Given the description of an element on the screen output the (x, y) to click on. 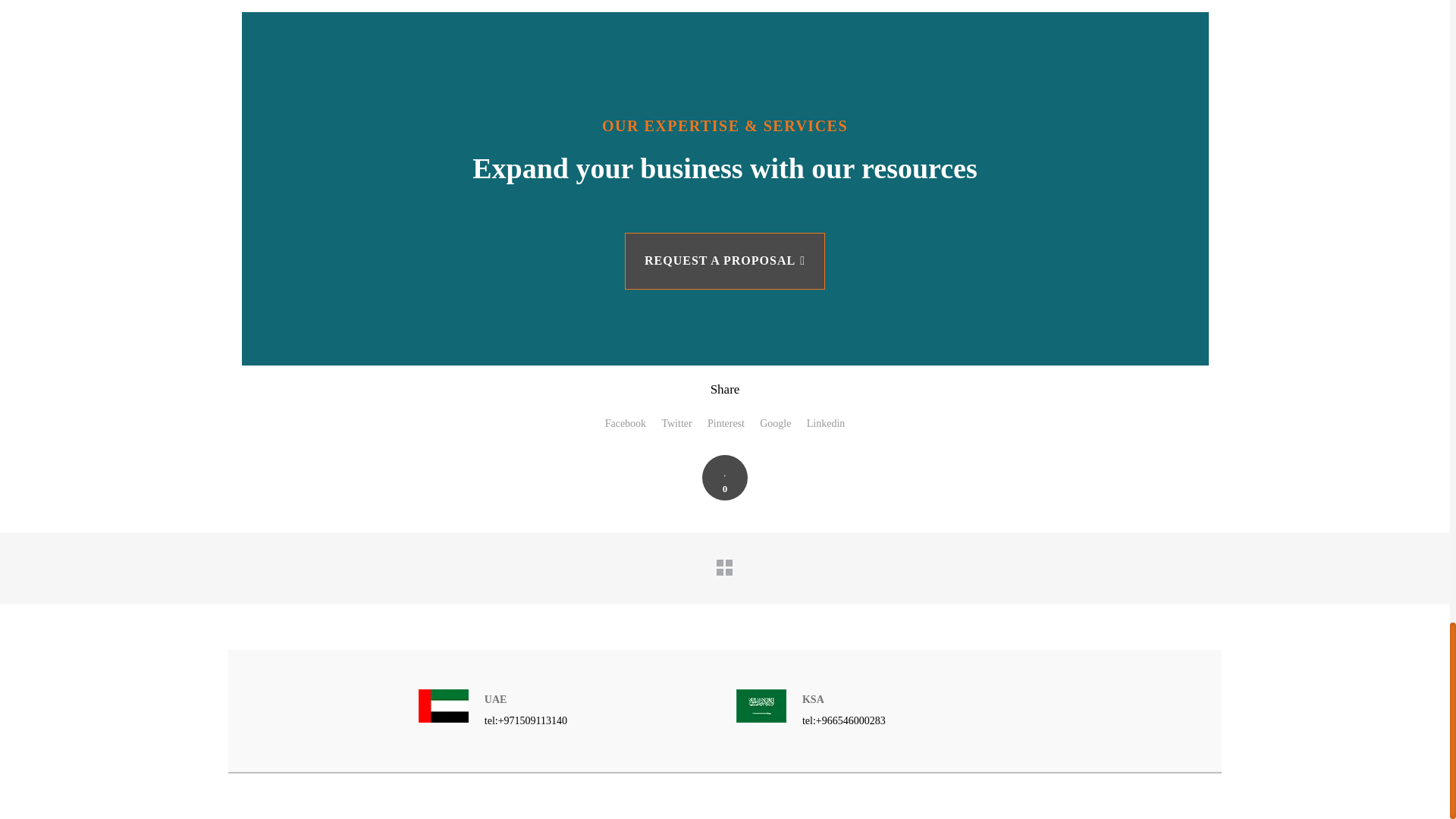
0 (724, 477)
Google (775, 423)
Request a Proposal (724, 260)
Twitter (676, 423)
Linkedin (825, 423)
Facebook (625, 423)
Pinterest (725, 423)
REQUEST A PROPOSAL (724, 260)
